Given the description of an element on the screen output the (x, y) to click on. 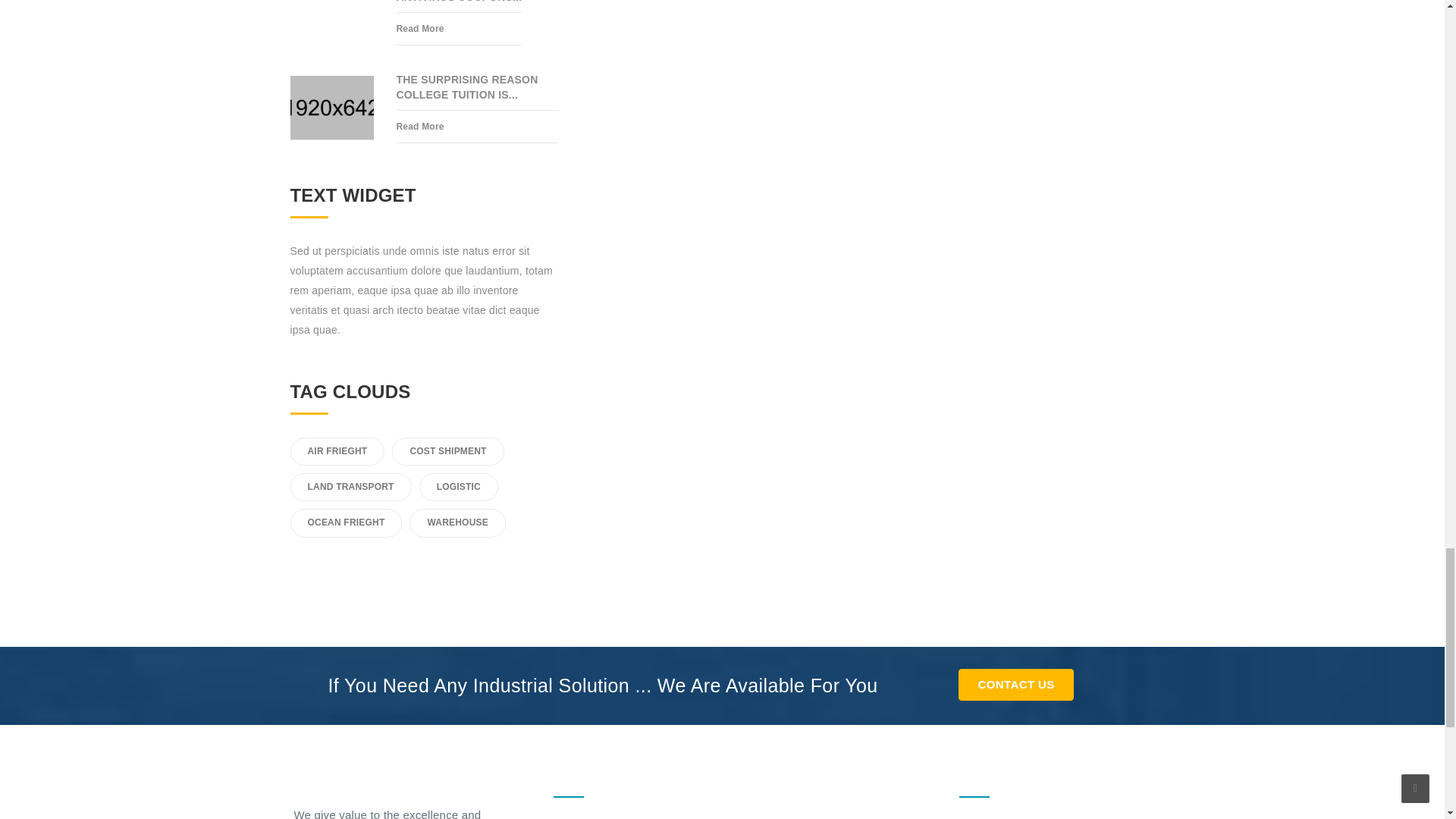
The Surprising Reason College Tuition Is Crazy Expensive (477, 91)
Antivirus Coupons (458, 6)
